Given the description of an element on the screen output the (x, y) to click on. 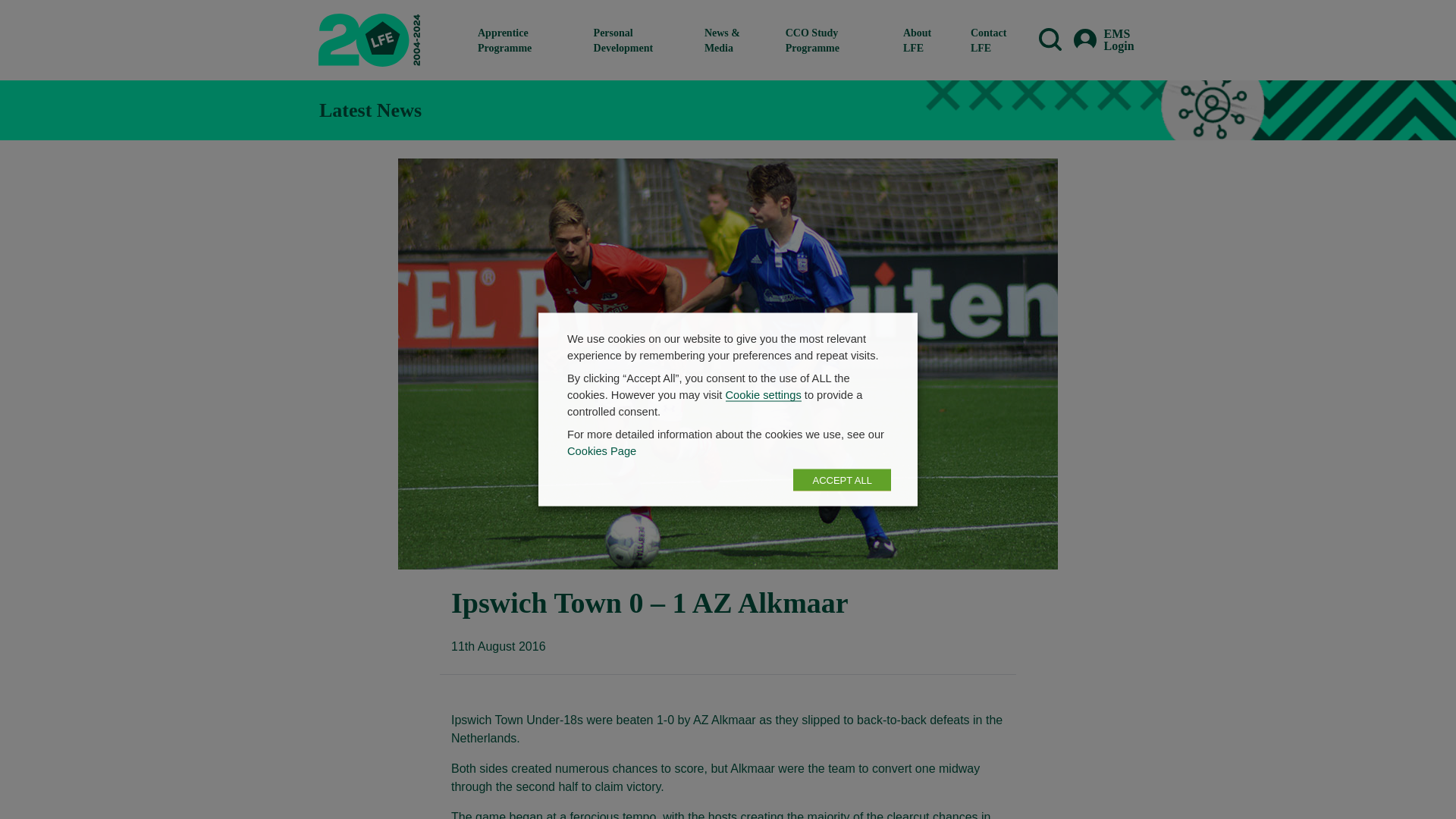
Apprentice Programme (523, 39)
Apprentice Programme (523, 39)
Personal Development (636, 39)
CCO Study Programme (831, 39)
